Given the description of an element on the screen output the (x, y) to click on. 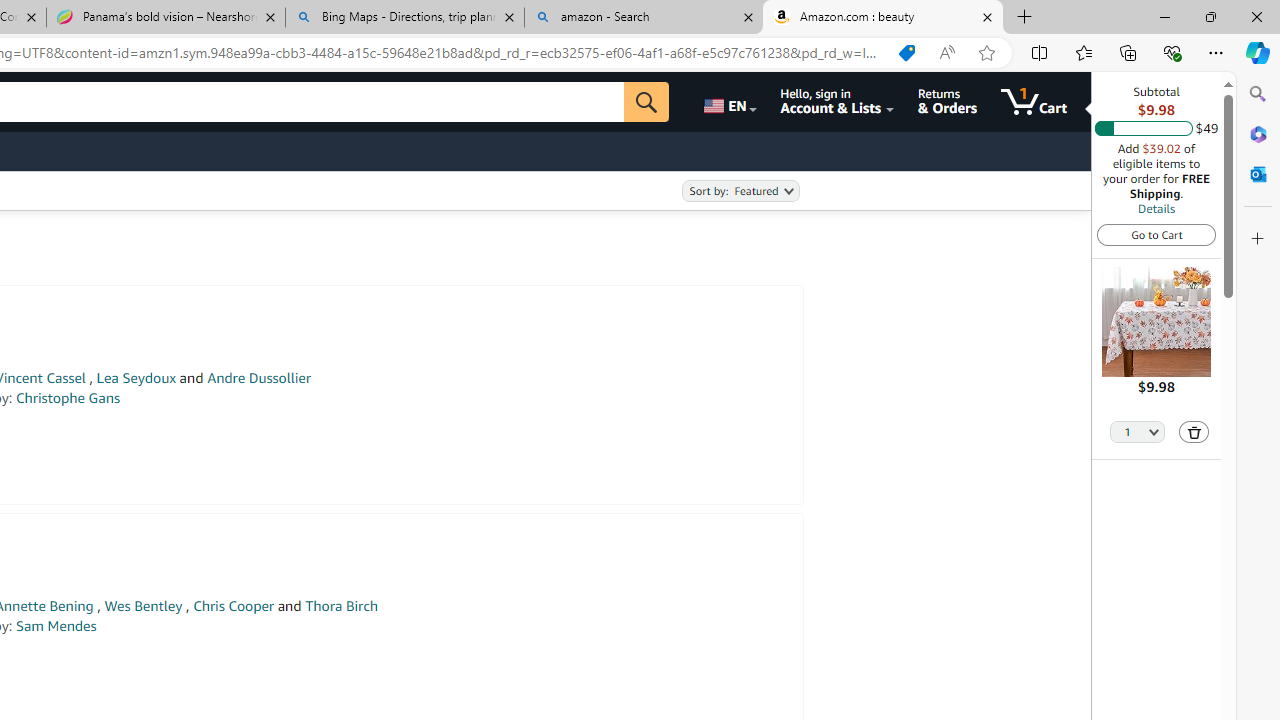
Sam Mendes (56, 626)
Wes Bentley (143, 606)
Choose a language for shopping. (728, 101)
Shopping in Microsoft Edge (906, 53)
Amazon.com : beauty (883, 17)
Chris Cooper (234, 606)
Returns & Orders (946, 101)
